Given the description of an element on the screen output the (x, y) to click on. 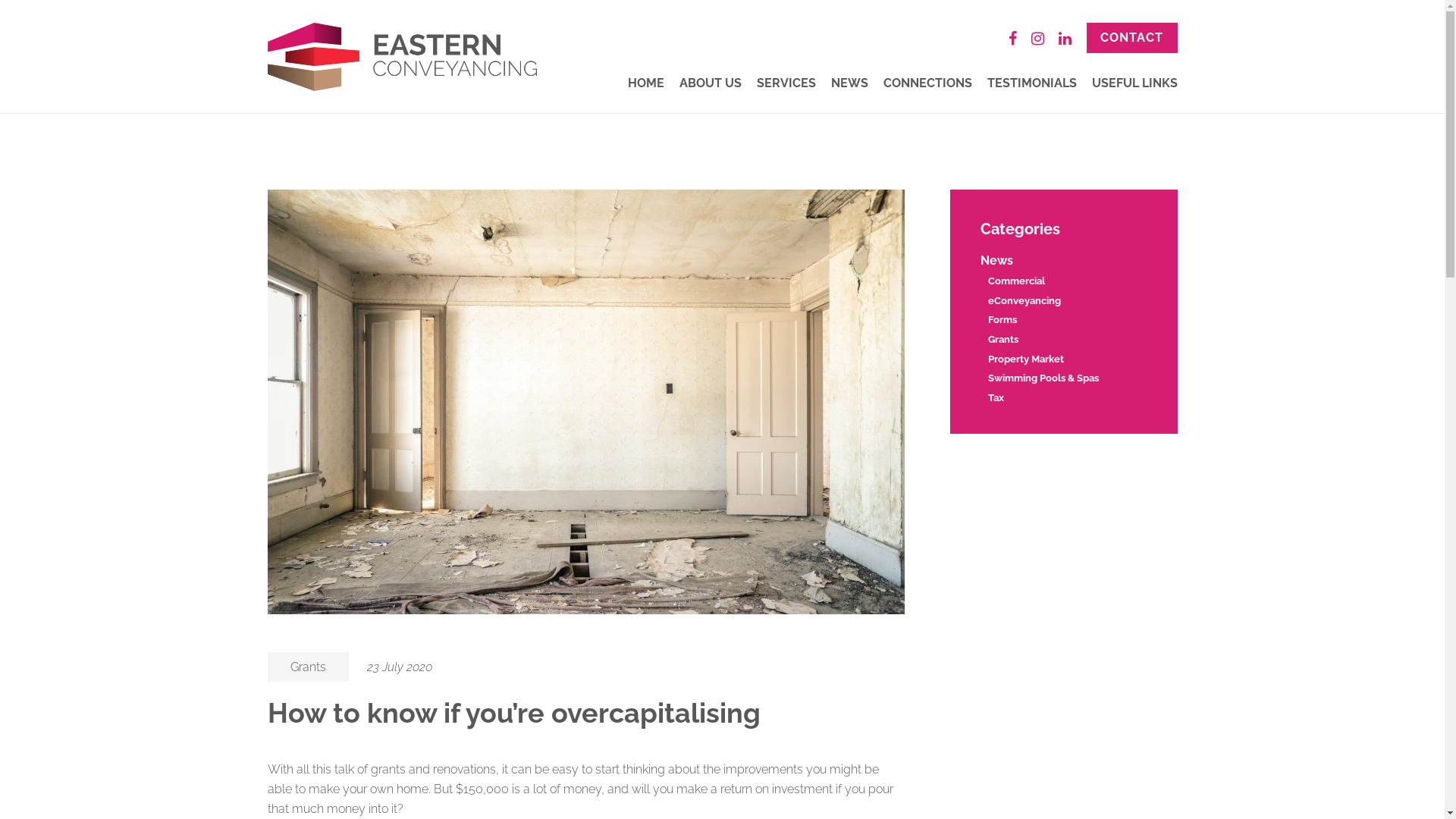
NEWS Element type: text (849, 82)
News Element type: text (995, 260)
Commercial Element type: text (1015, 280)
CONTACT Element type: text (1130, 37)
Tax Element type: text (995, 397)
Property Market Element type: text (1025, 358)
TESTIMONIALS Element type: text (1031, 82)
eConveyancing Element type: text (1023, 300)
USEFUL LINKS Element type: text (1134, 82)
ABOUT US Element type: text (710, 82)
SERVICES Element type: text (785, 82)
Swimming Pools & Spas Element type: text (1042, 377)
Grants Element type: text (307, 666)
CONNECTIONS Element type: text (926, 82)
Forms Element type: text (1001, 319)
Grants Element type: text (1002, 339)
HOME Element type: text (645, 82)
